Given the description of an element on the screen output the (x, y) to click on. 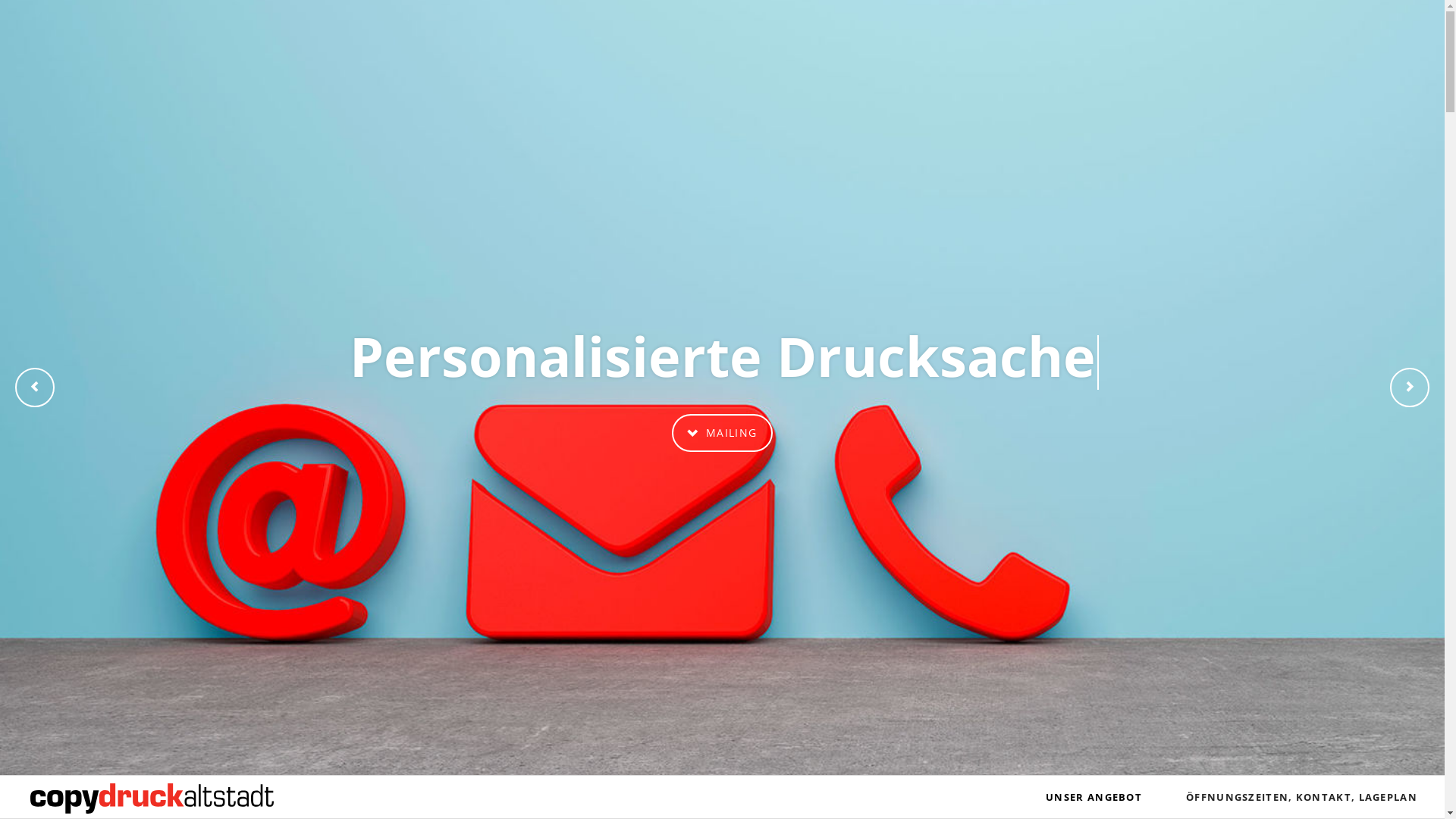
UNSER ANGEBOT Element type: text (1093, 796)
MAILING Element type: text (721, 432)
